Given the description of an element on the screen output the (x, y) to click on. 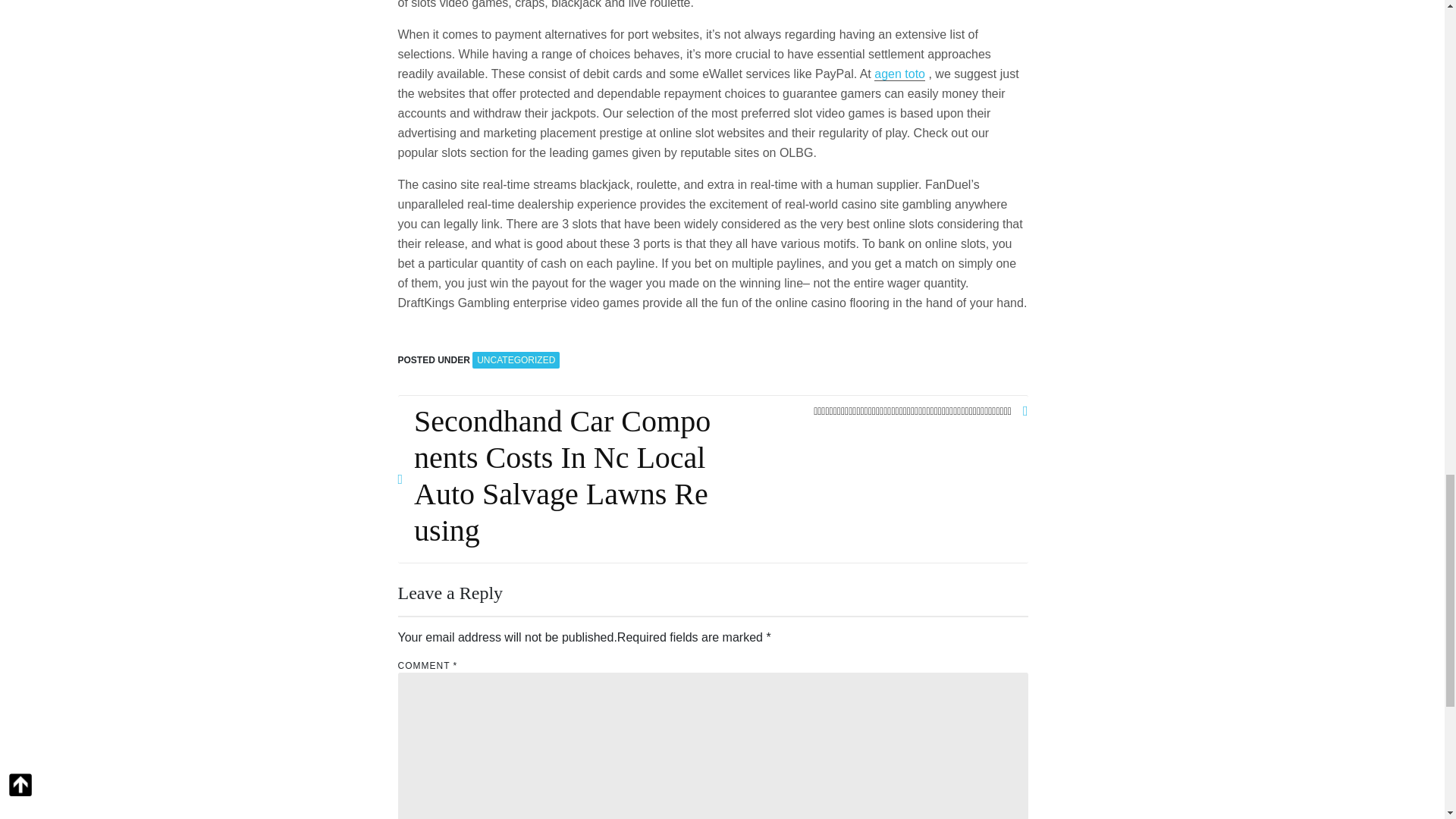
UNCATEGORIZED (515, 360)
agen toto (899, 74)
